Given the description of an element on the screen output the (x, y) to click on. 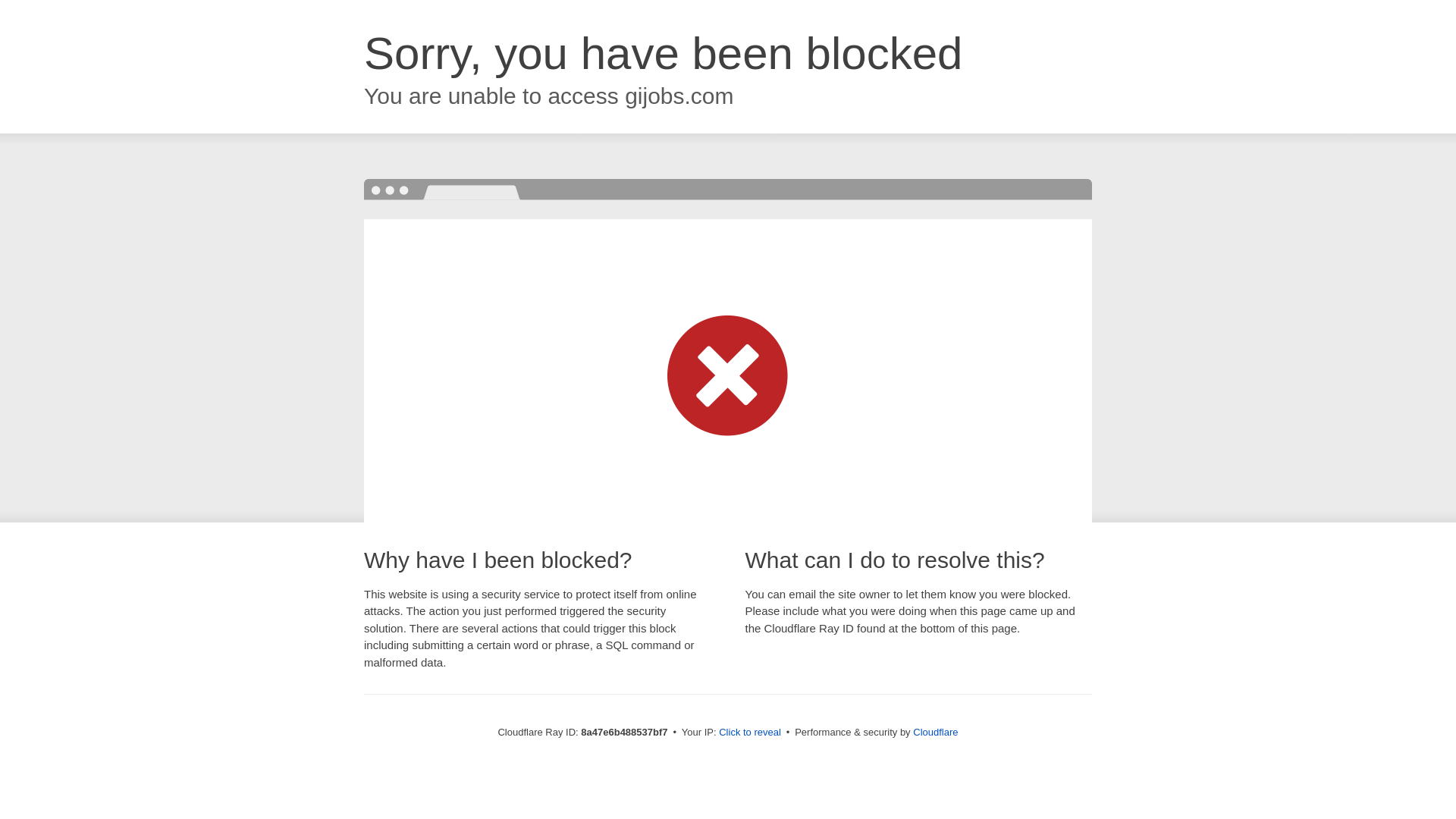
Cloudflare (935, 731)
Click to reveal (749, 732)
